Given the description of an element on the screen output the (x, y) to click on. 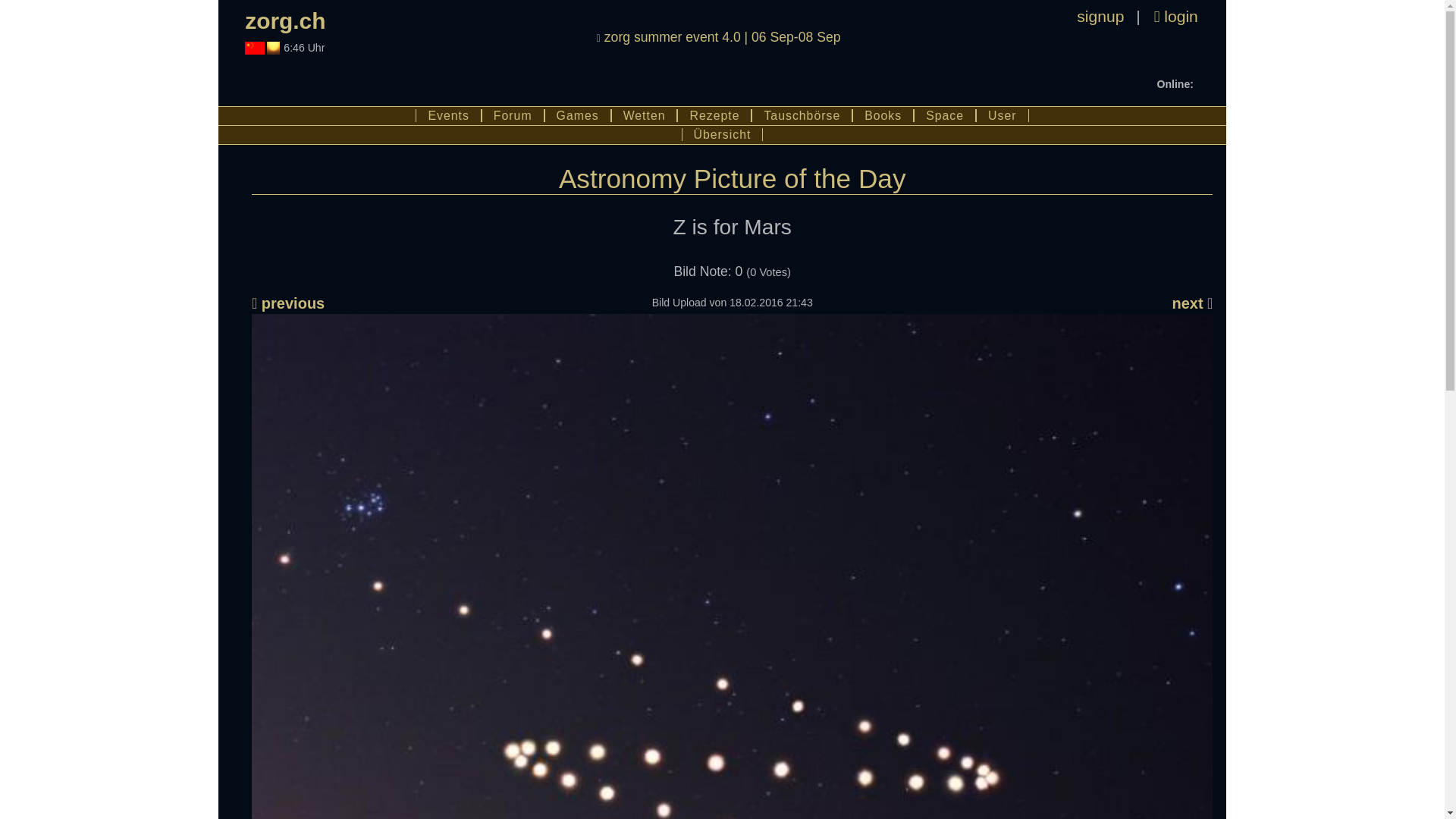
Games (577, 115)
zorg.ch (284, 20)
Forum (512, 115)
China (253, 47)
Space (944, 115)
Wetten (644, 115)
Rezepte (714, 115)
Events (447, 115)
Books (882, 115)
